Given the description of an element on the screen output the (x, y) to click on. 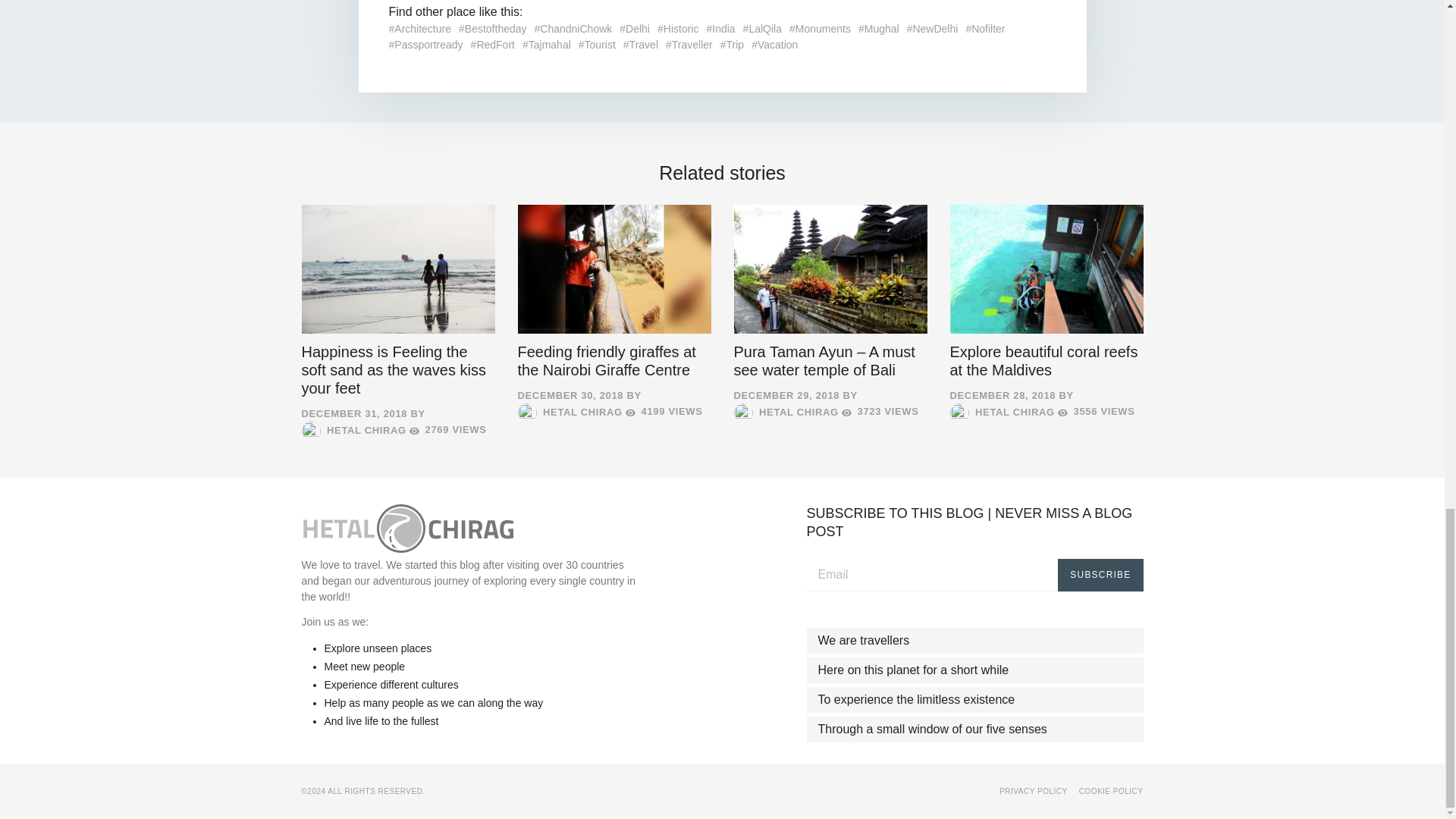
ChandniChowk (573, 28)
Historic (678, 28)
Bestoftheday (492, 28)
Delhi (634, 28)
Architecture (419, 28)
LalQila (761, 28)
India (720, 28)
Monuments (819, 28)
Subscribe (1100, 573)
Hetal Chirag (407, 527)
